Given the description of an element on the screen output the (x, y) to click on. 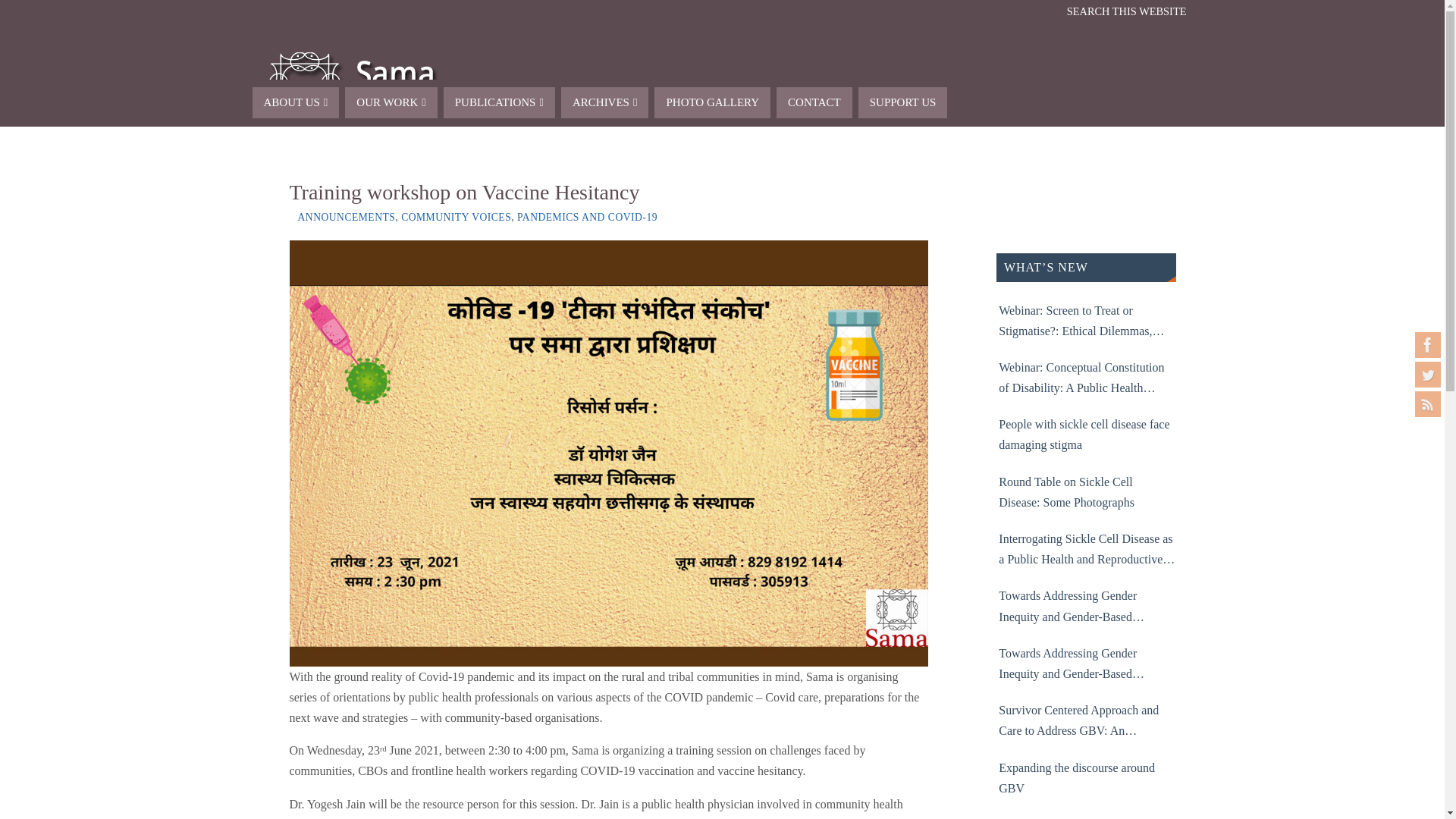
ABOUT US (295, 101)
Sama (721, 75)
SEARCH THIS WEBSITE (1126, 11)
News from Sama (1428, 403)
OUR WORK (390, 101)
Facebook (1428, 344)
Twitter (1428, 374)
